Given the description of an element on the screen output the (x, y) to click on. 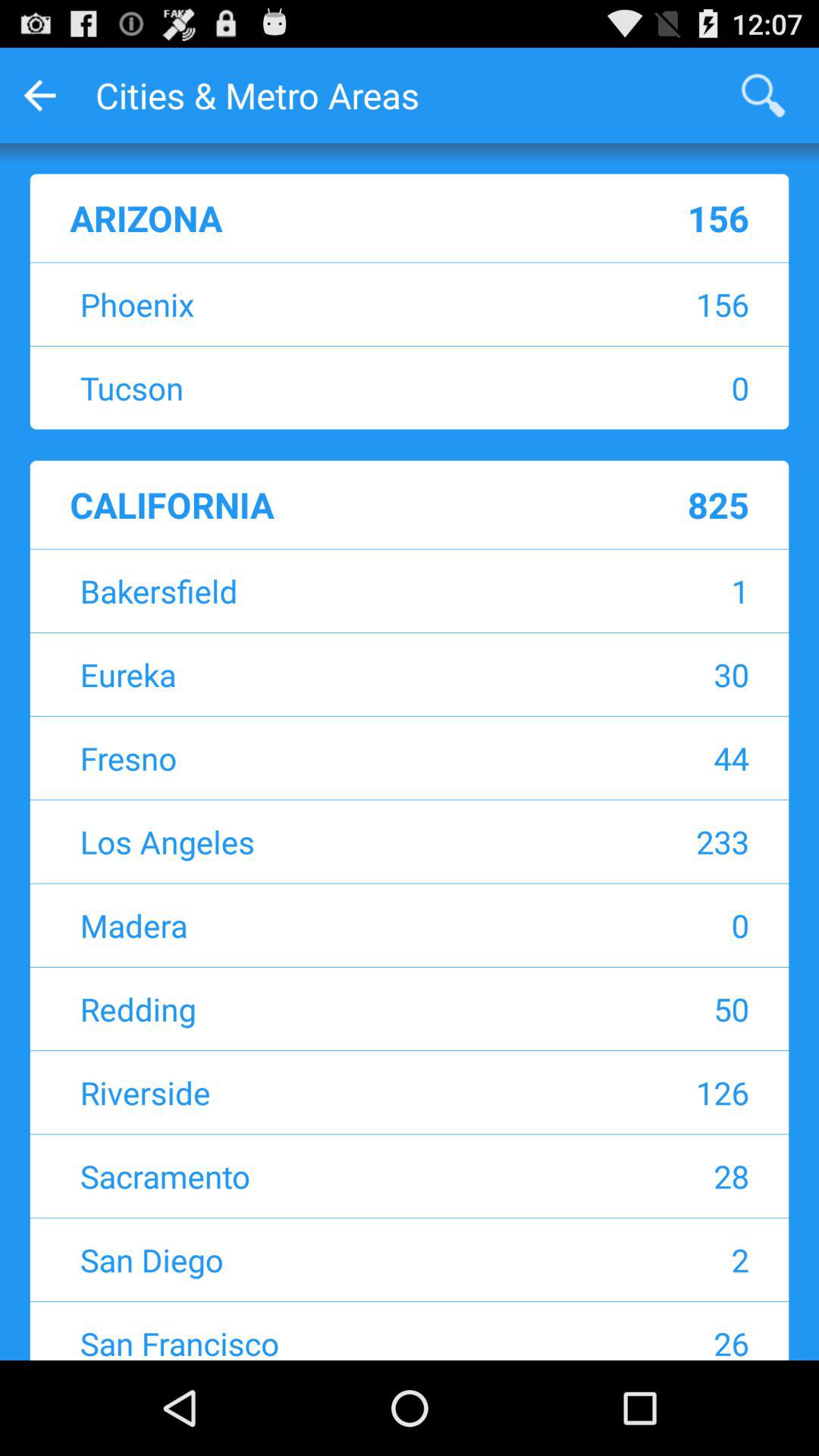
press app next to the 126 app (314, 1092)
